Given the description of an element on the screen output the (x, y) to click on. 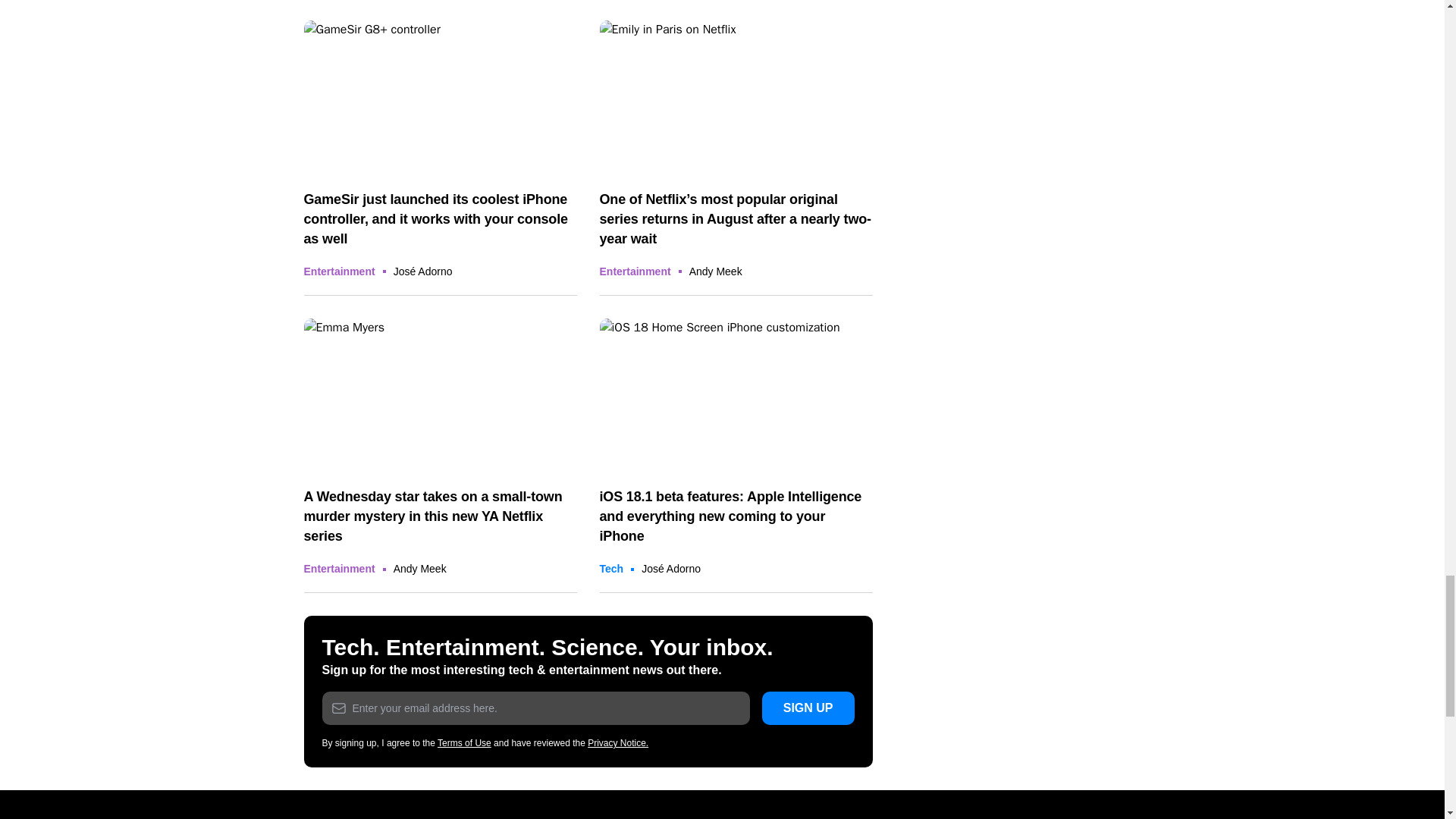
Posts by Andy Meek (419, 568)
Netflix (439, 395)
Posts by Andy Meek (715, 271)
Emily in Paris (735, 97)
